Given the description of an element on the screen output the (x, y) to click on. 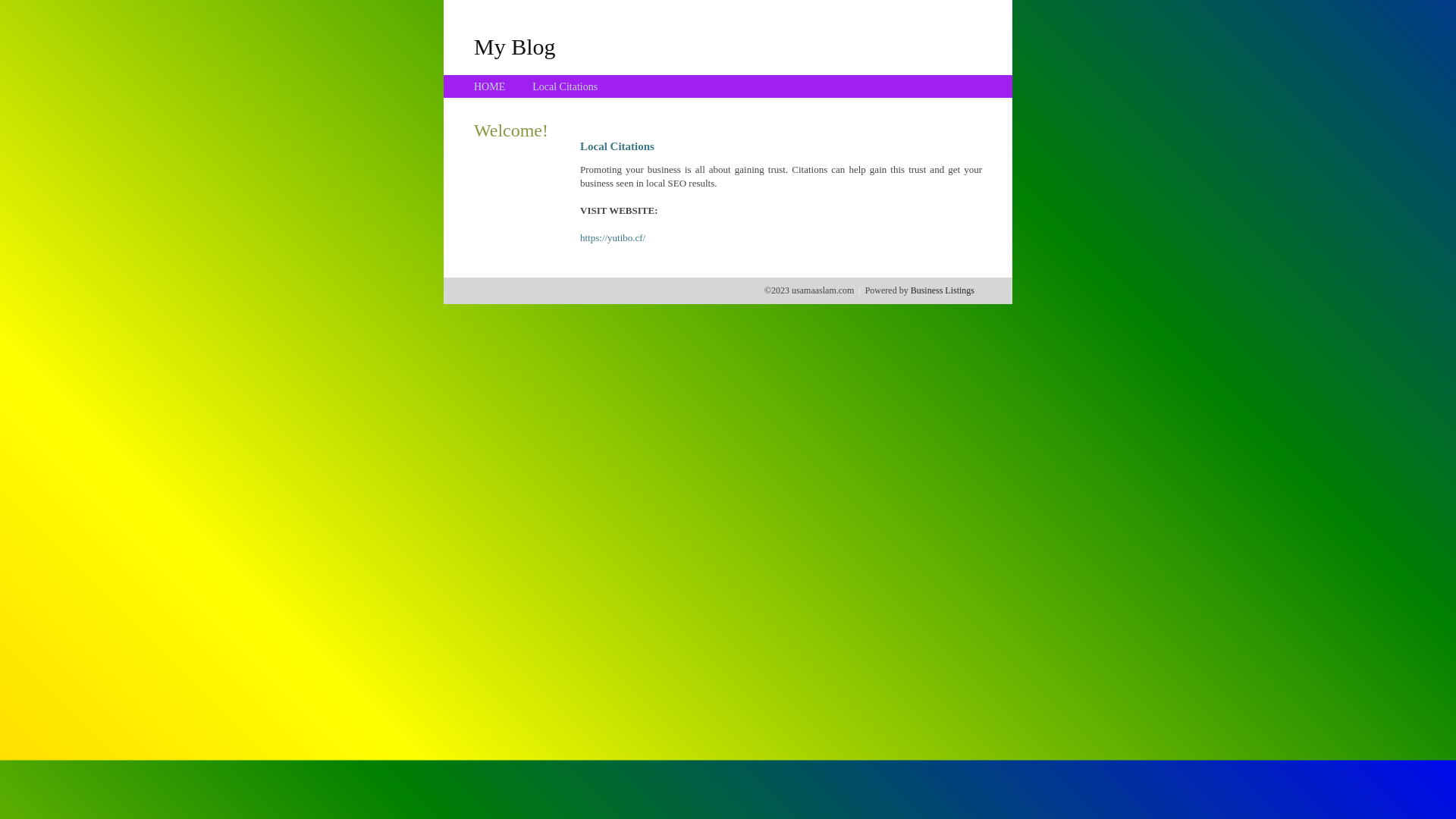
Business Listings Element type: text (942, 290)
https://yutibo.cf/ Element type: text (612, 237)
My Blog Element type: text (514, 46)
Local Citations Element type: text (564, 86)
HOME Element type: text (489, 86)
